Given the description of an element on the screen output the (x, y) to click on. 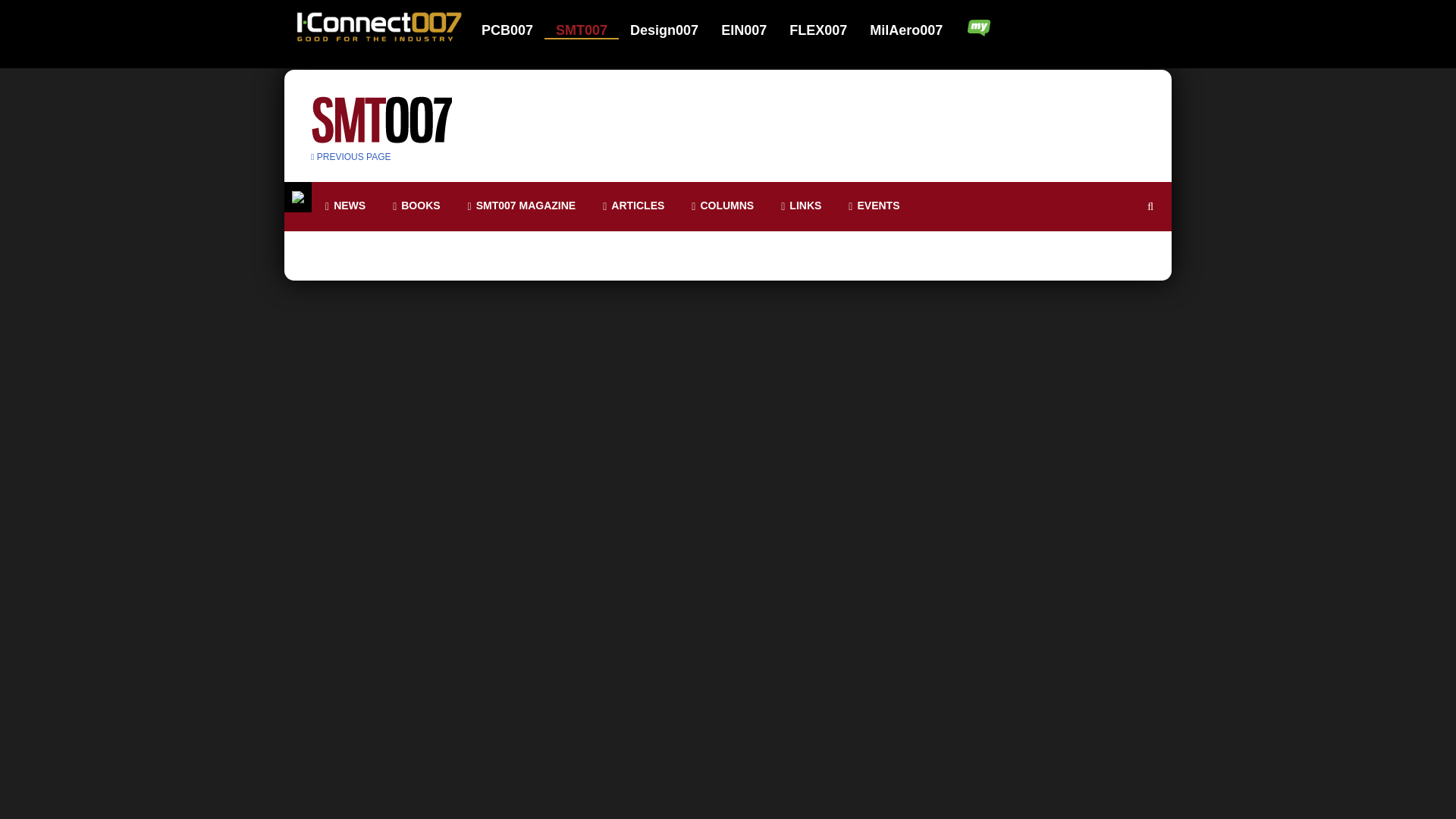
FLEX007 (827, 30)
PCB007 (516, 30)
SMT007 MAGAZINE (521, 205)
PREVIOUS PAGE (351, 156)
EIN007 (753, 30)
MilAero007 (907, 30)
BOOKS (415, 205)
SMT007 (590, 30)
Design007 (673, 30)
NEWS (344, 205)
